Given the description of an element on the screen output the (x, y) to click on. 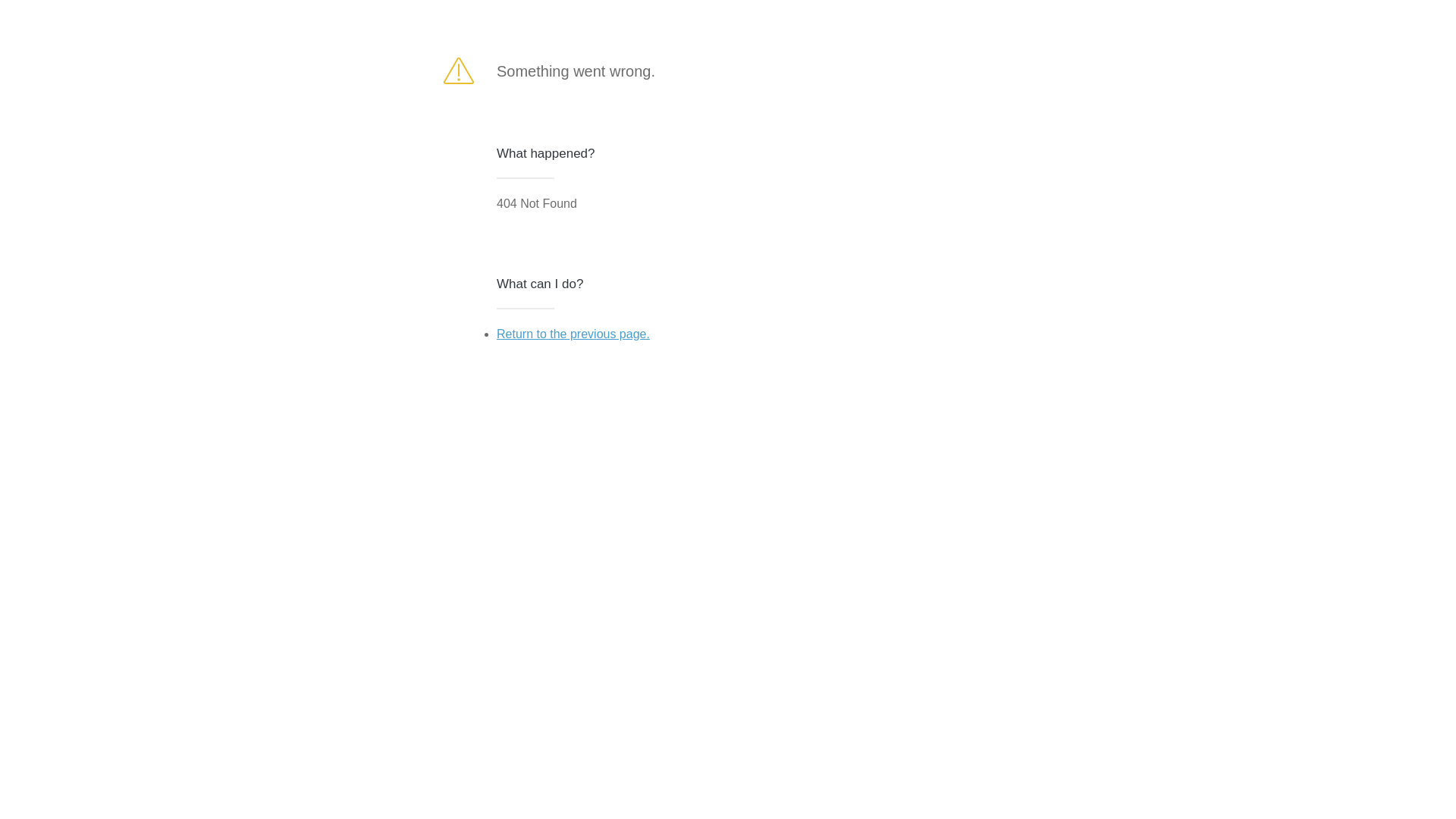
Return to the previous page. Element type: text (572, 333)
